Given the description of an element on the screen output the (x, y) to click on. 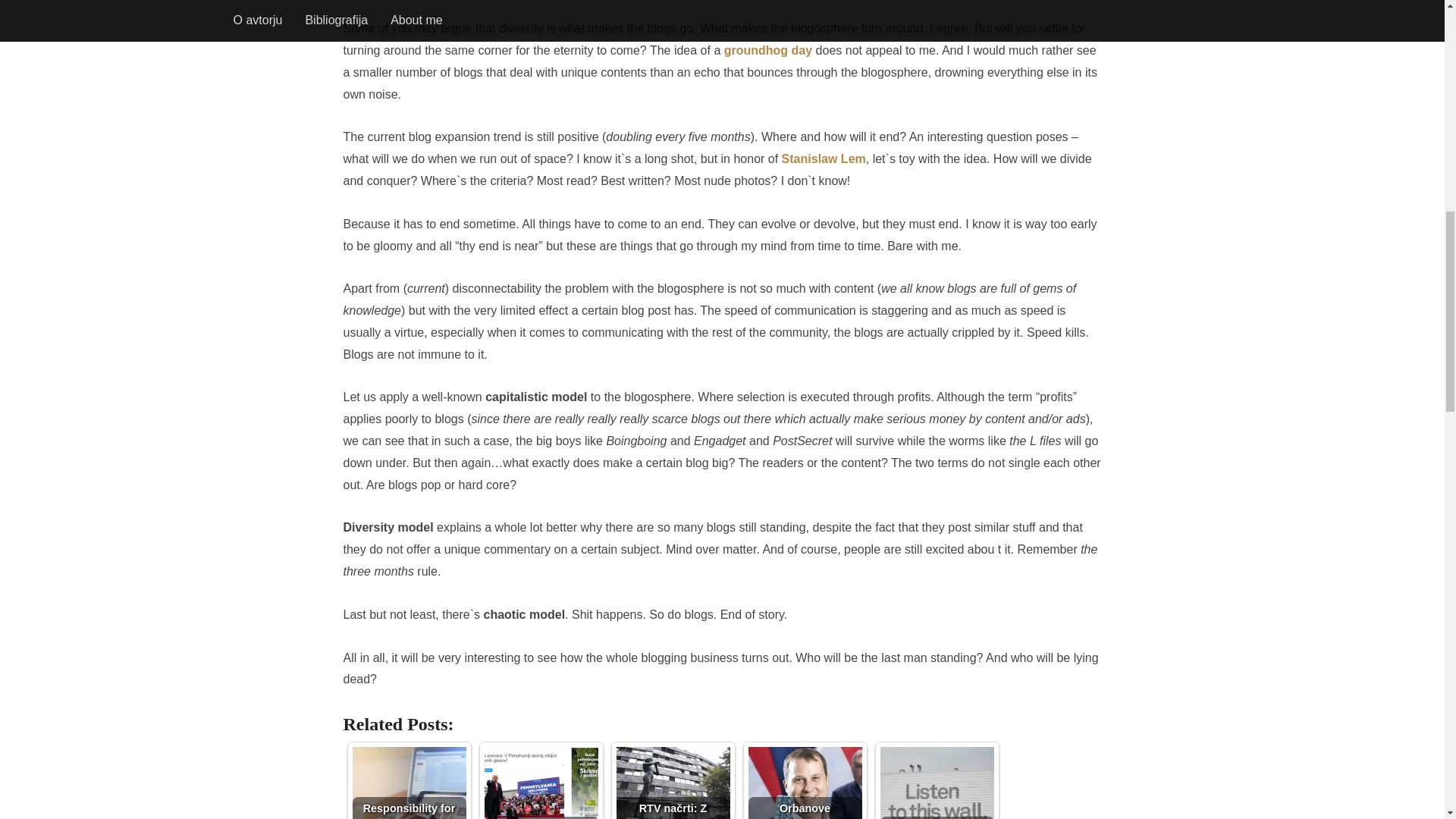
Orbanove kontracepcijske tabletke za Iskrene (804, 782)
